Given the description of an element on the screen output the (x, y) to click on. 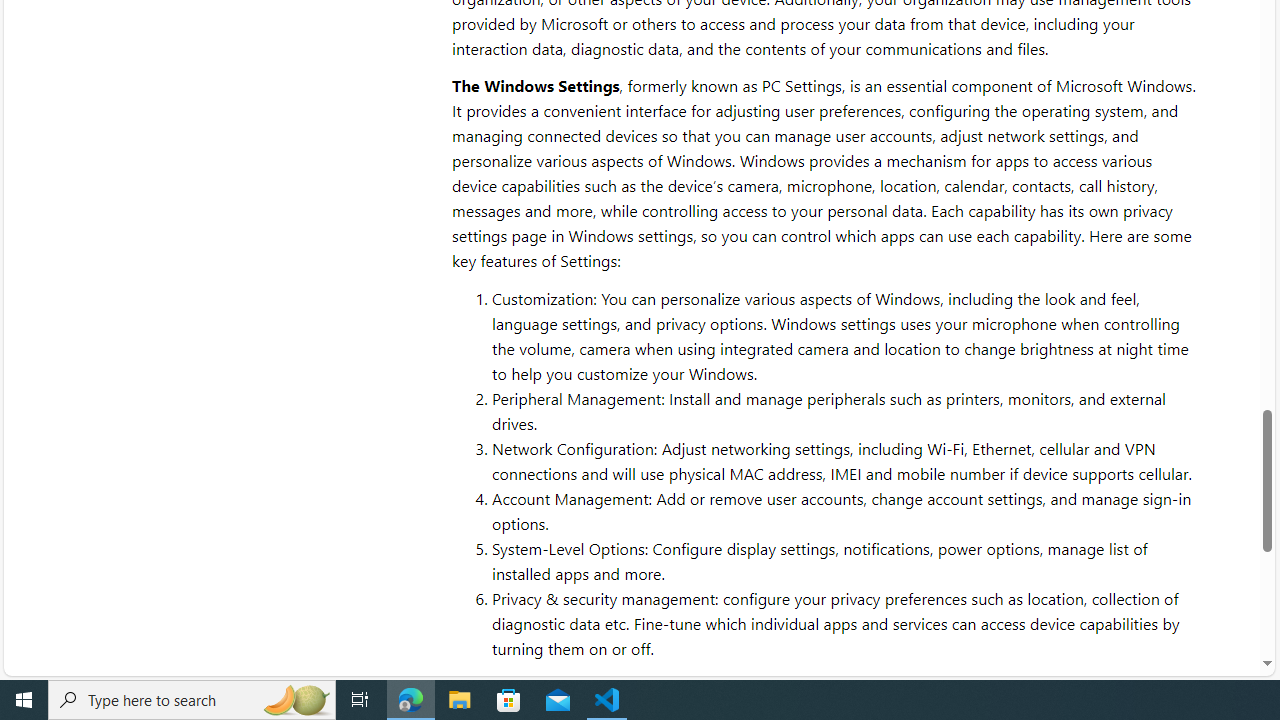
Data collection summary for Windows (1013, 685)
